Given the description of an element on the screen output the (x, y) to click on. 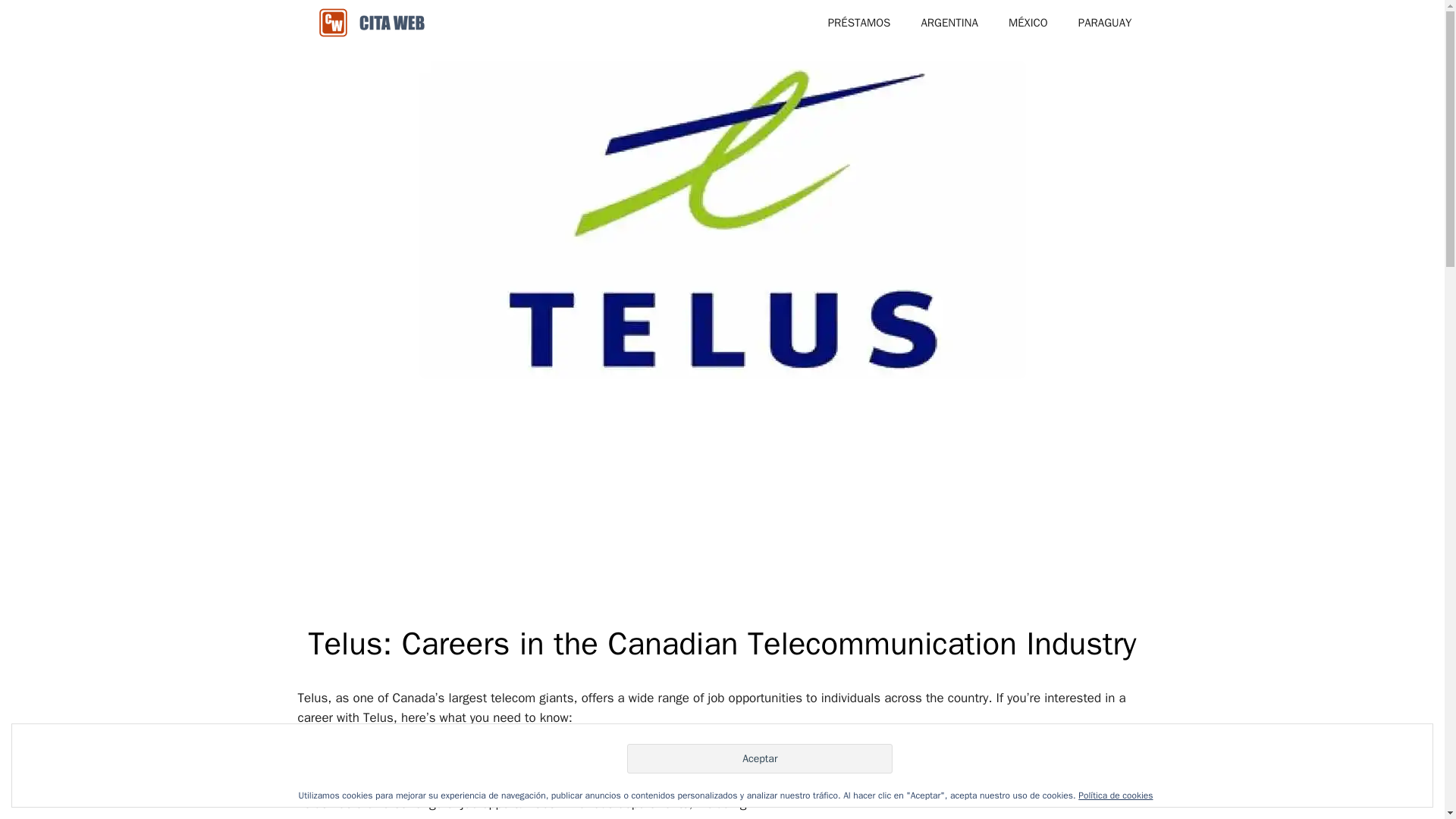
Aceptar (759, 758)
PARAGUAY (1104, 22)
ARGENTINA (948, 22)
CITAWEB (372, 22)
Aceptar (759, 758)
